Given the description of an element on the screen output the (x, y) to click on. 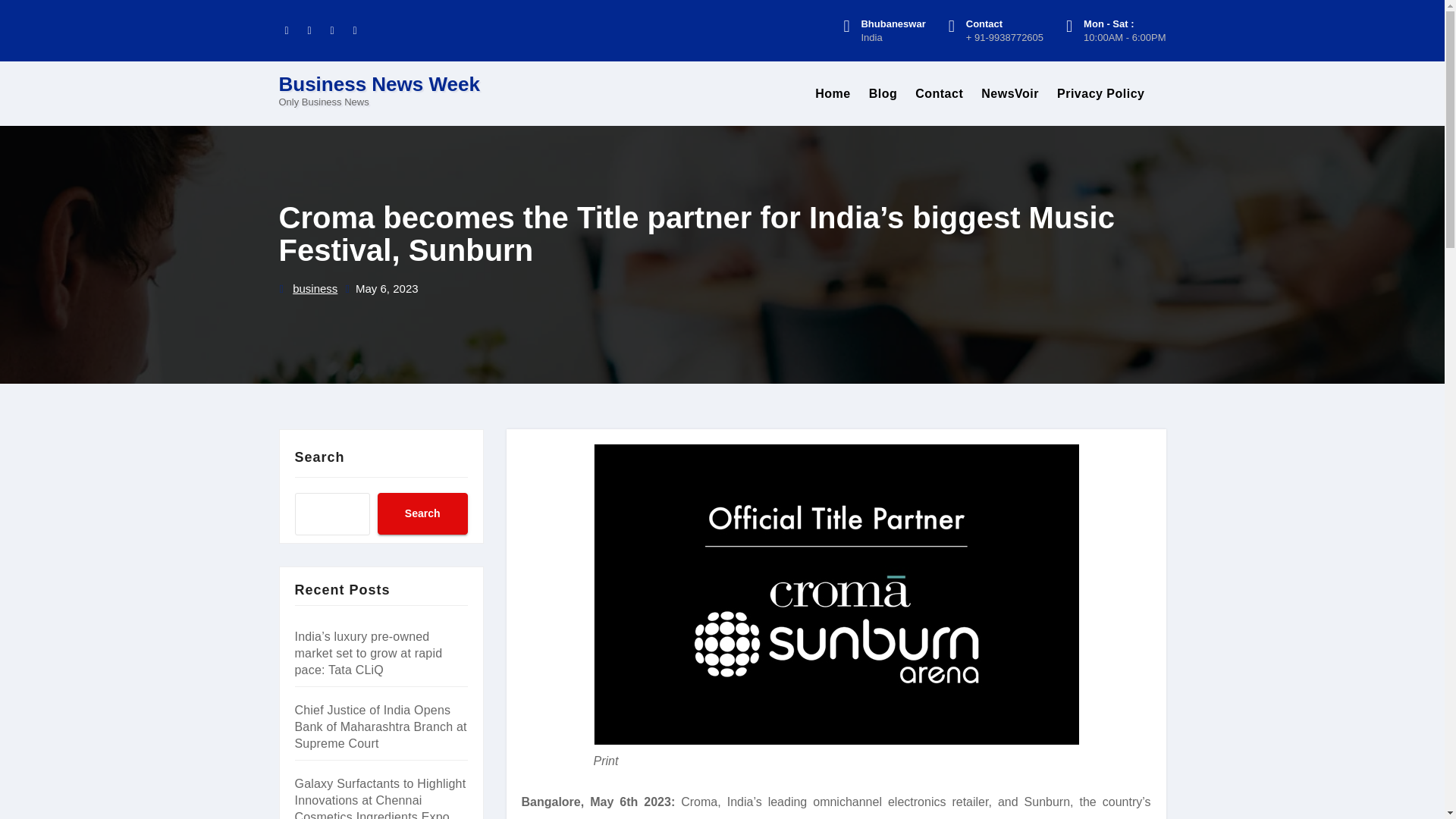
Contact (938, 93)
business (314, 289)
Privacy Policy (1101, 93)
Blog (883, 93)
Search (422, 513)
Business News Week (379, 83)
NewsVoir (1010, 93)
Home (832, 93)
